Given the description of an element on the screen output the (x, y) to click on. 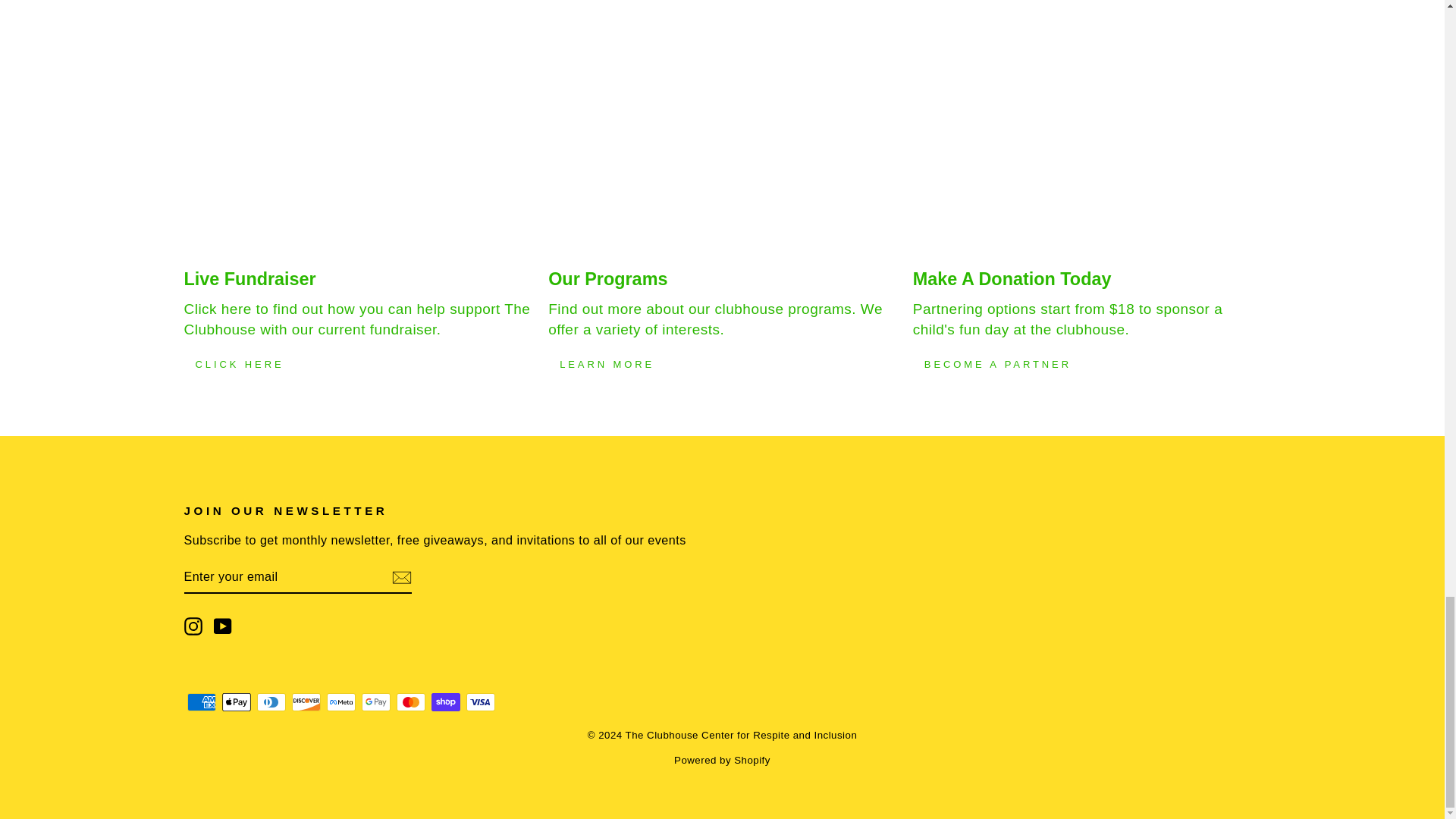
instagram (192, 626)
The Clubhouse Center for Respite and Inclusion on Instagram (192, 625)
Apple Pay (235, 701)
The Clubhouse Center for Respite and Inclusion on YouTube (222, 625)
Diners Club (270, 701)
American Express (200, 701)
Meta Pay (340, 701)
Discover (305, 701)
icon-email (400, 577)
